Given the description of an element on the screen output the (x, y) to click on. 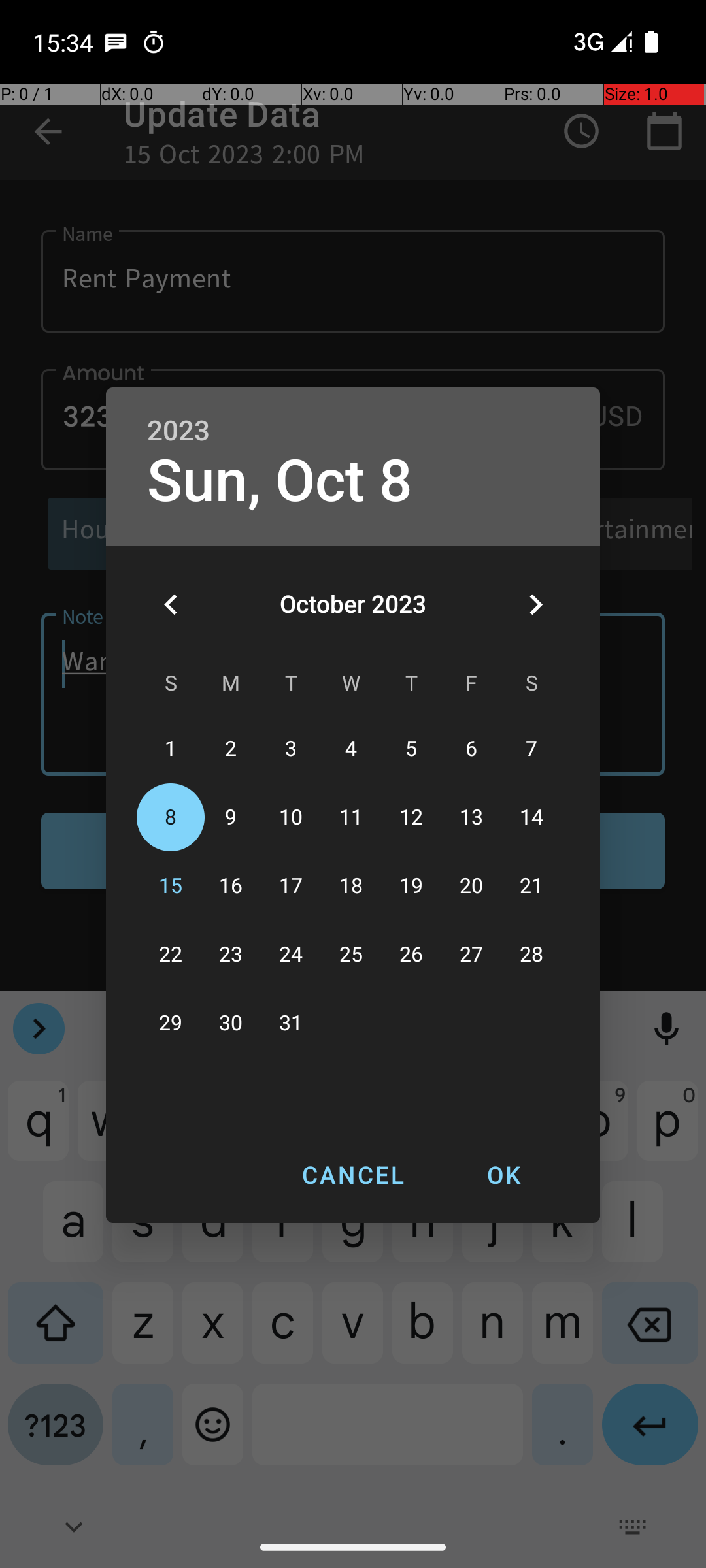
Sun, Oct 8 Element type: android.widget.TextView (279, 480)
SMS Messenger notification: Sophie Gonzalez Element type: android.widget.ImageView (115, 41)
